Given the description of an element on the screen output the (x, y) to click on. 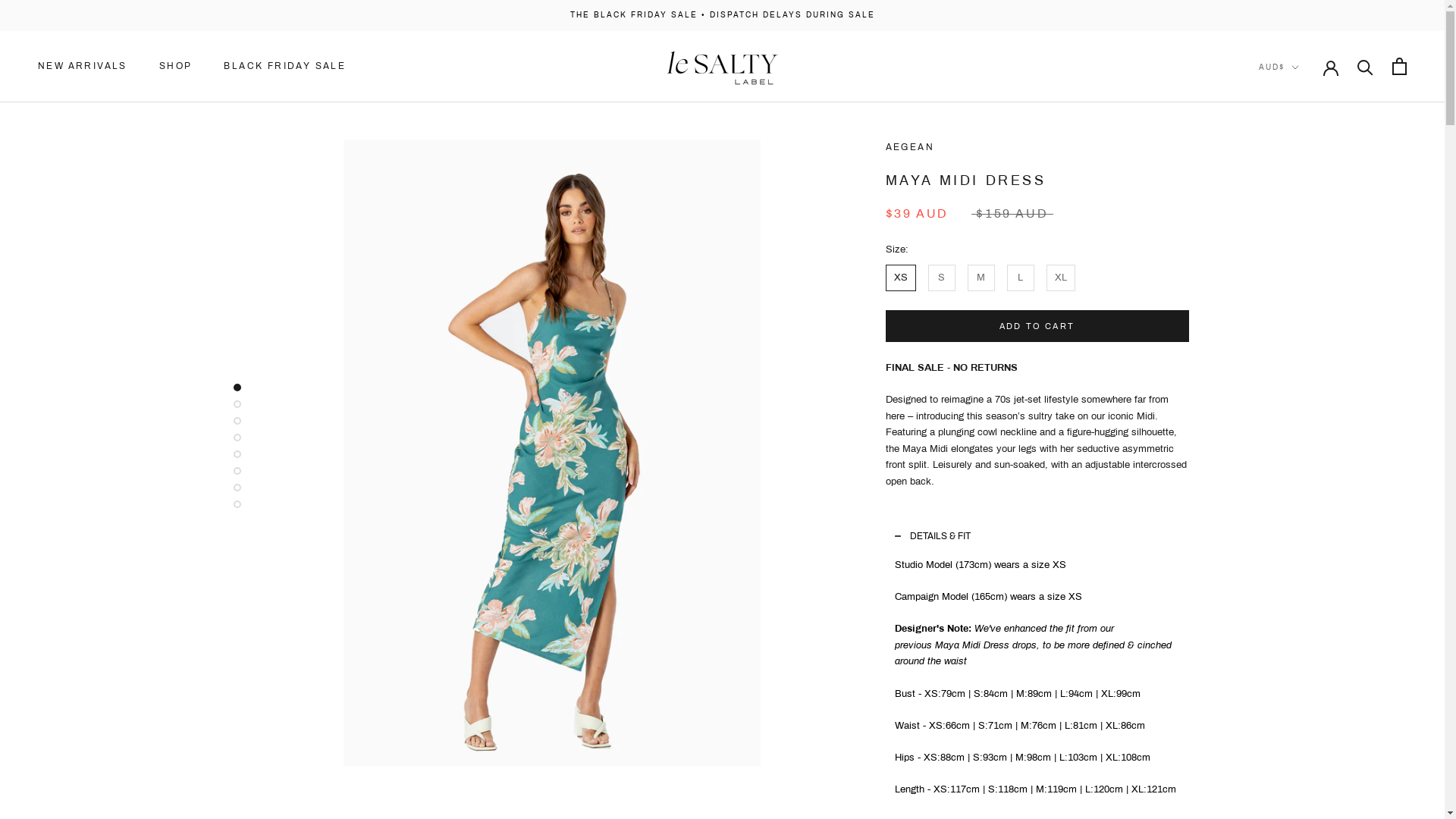
EUR Element type: text (1297, 119)
NZD Element type: text (1297, 179)
AUD Element type: text (1297, 99)
JPY Element type: text (1297, 159)
GBP Element type: text (1297, 139)
BLACK FRIDAY SALE
BLACK FRIDAY SALE Element type: text (281, 66)
AUD$ Element type: text (1278, 67)
NEW ARRIVALS
NEW ARRIVALS Element type: text (81, 66)
USD Element type: text (1297, 199)
SHOP
SHOP Element type: text (173, 66)
ADD TO CART Element type: text (1037, 326)
